Given the description of an element on the screen output the (x, y) to click on. 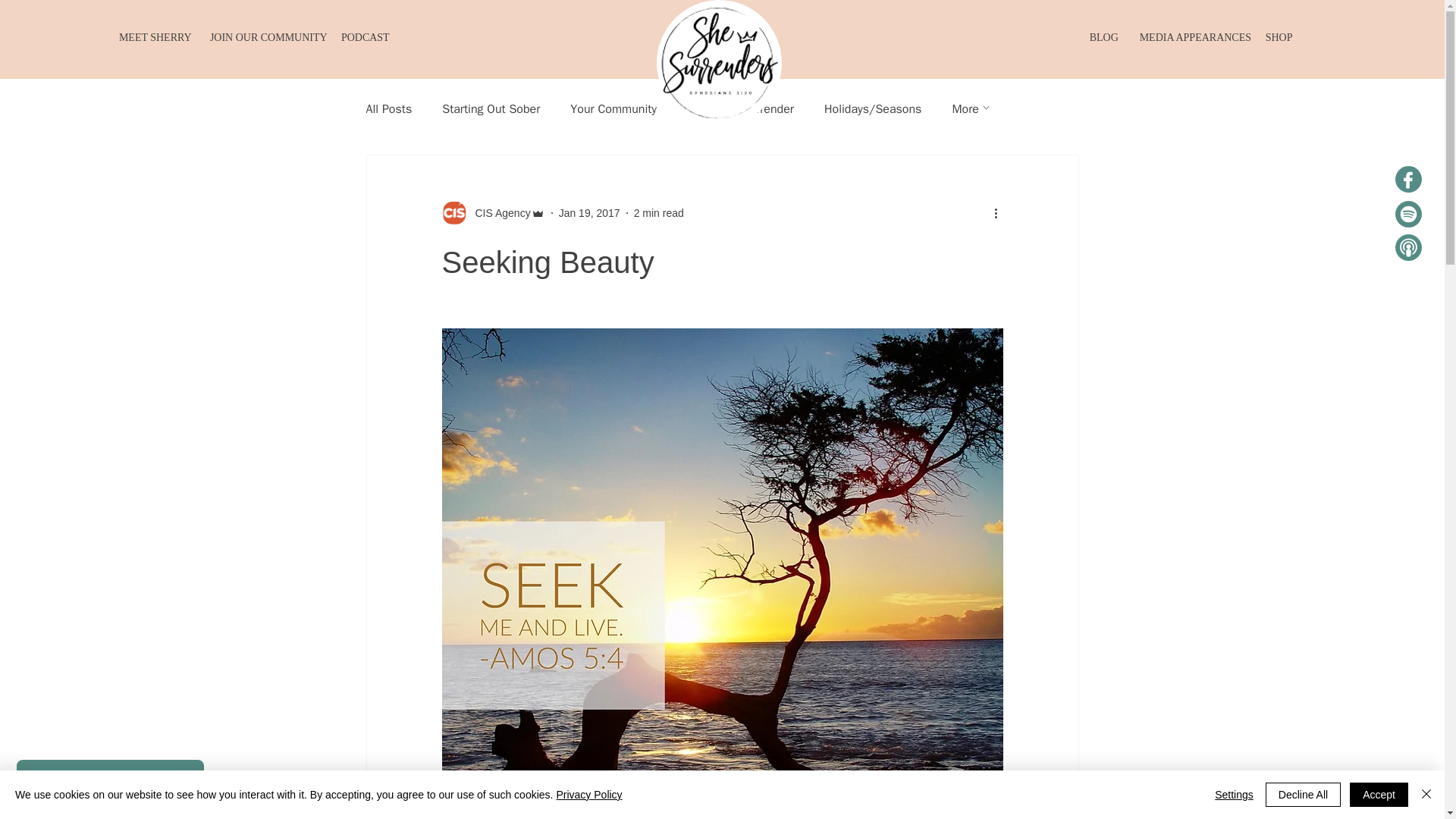
CIS Agency (492, 212)
BLOG (1103, 37)
Your Community (613, 109)
All Posts (388, 109)
MEDIA APPEARANCES (1190, 37)
JOIN OUR COMMUNITY (264, 37)
SHOP (1278, 37)
PODCAST (364, 37)
Jan 19, 2017 (589, 212)
CIS Agency (497, 212)
Login to Joyful Surrender (109, 780)
2 min read (658, 212)
Stories of Surrender (740, 109)
Starting Out Sober (491, 109)
MEET SHERRY (152, 37)
